Given the description of an element on the screen output the (x, y) to click on. 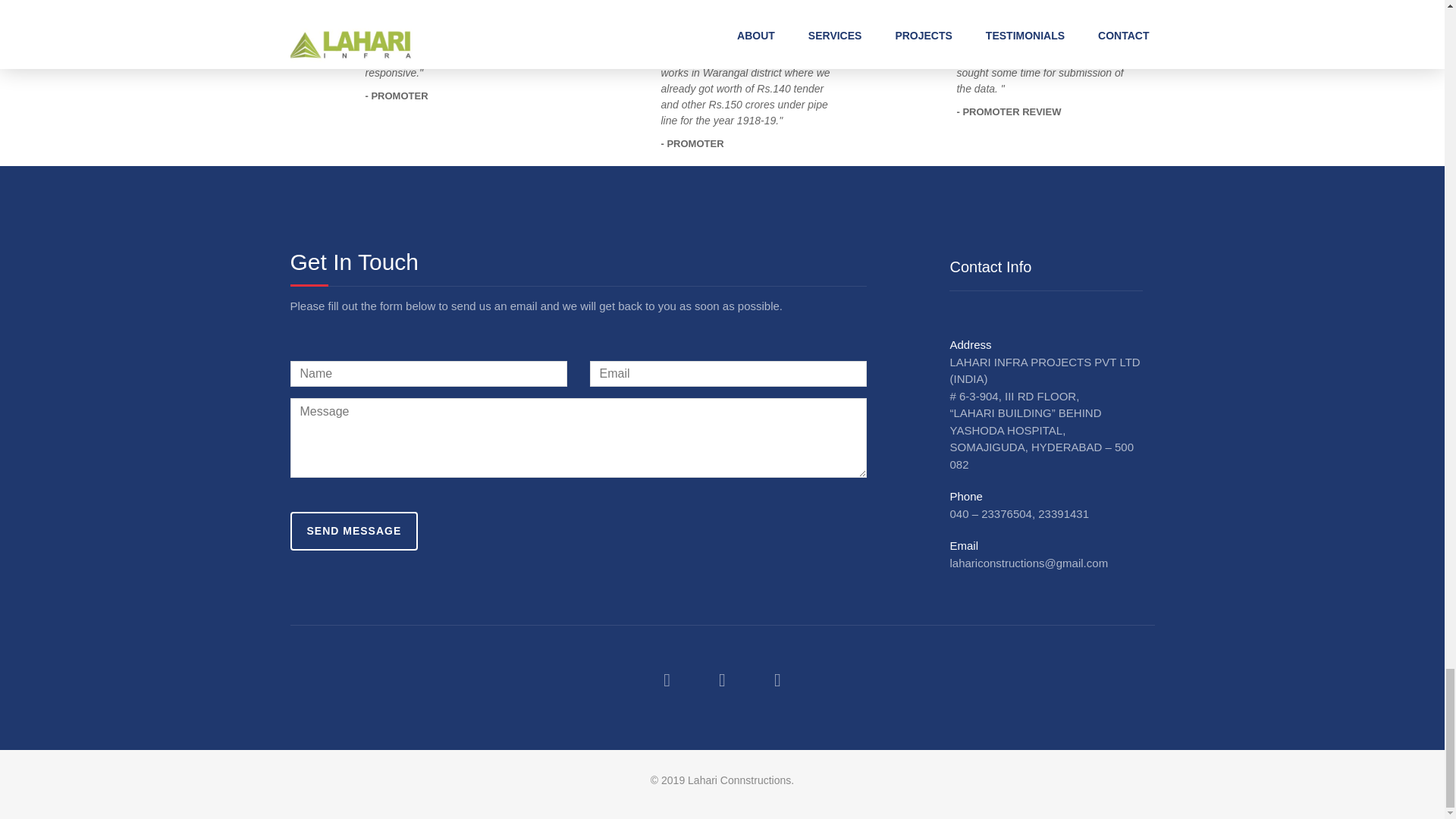
SEND MESSAGE (353, 530)
